Given the description of an element on the screen output the (x, y) to click on. 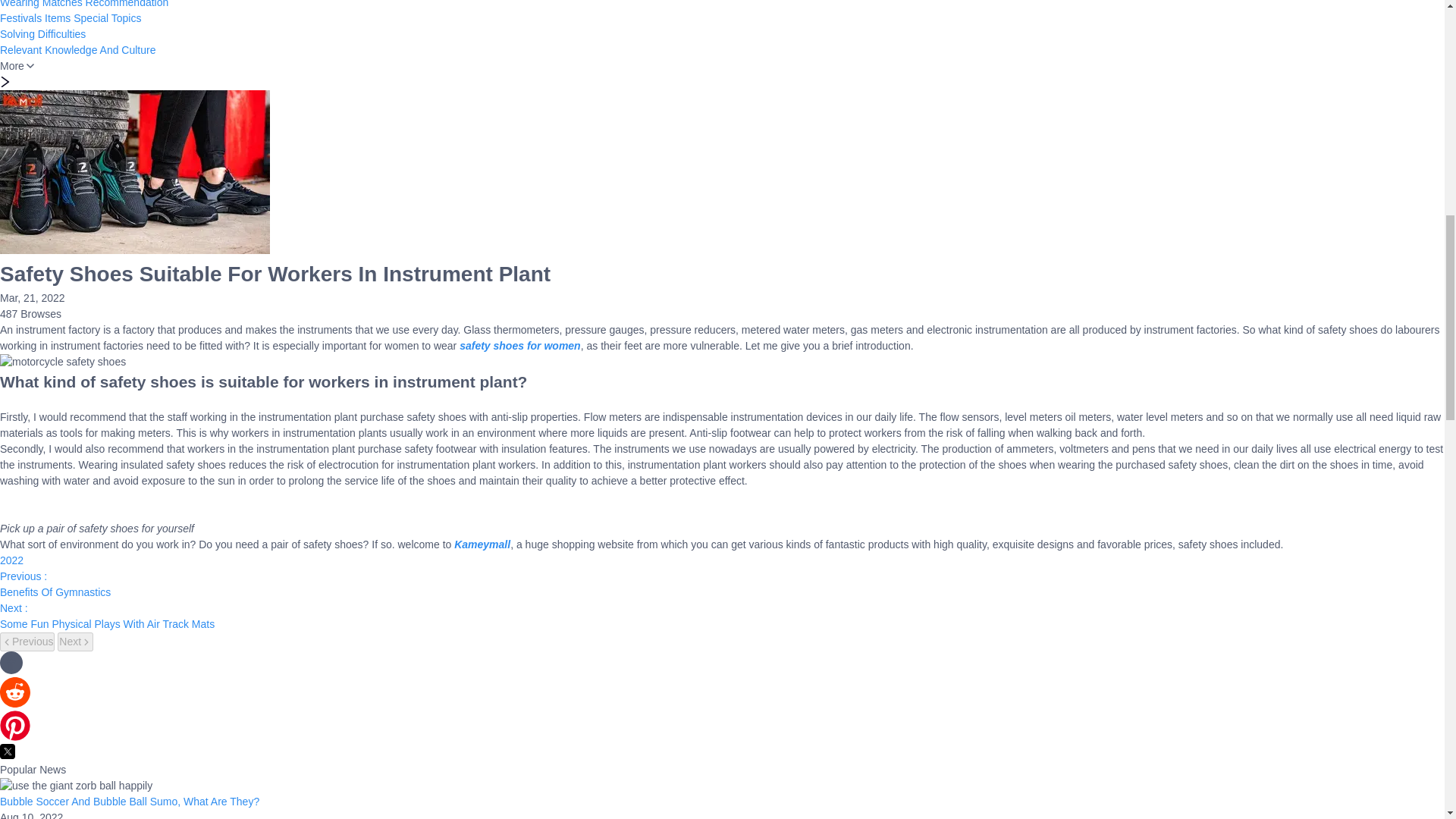
Kameymall (482, 544)
Wearing Matches Recommendation (84, 4)
Relevant Knowledge And Culture (77, 50)
Created with Pixso. (7, 751)
Solving Difficulties (42, 33)
Previous (27, 641)
Previous (27, 641)
Festivals Items Special Topics (70, 18)
safety shoes for women (520, 345)
Next (75, 641)
